Given the description of an element on the screen output the (x, y) to click on. 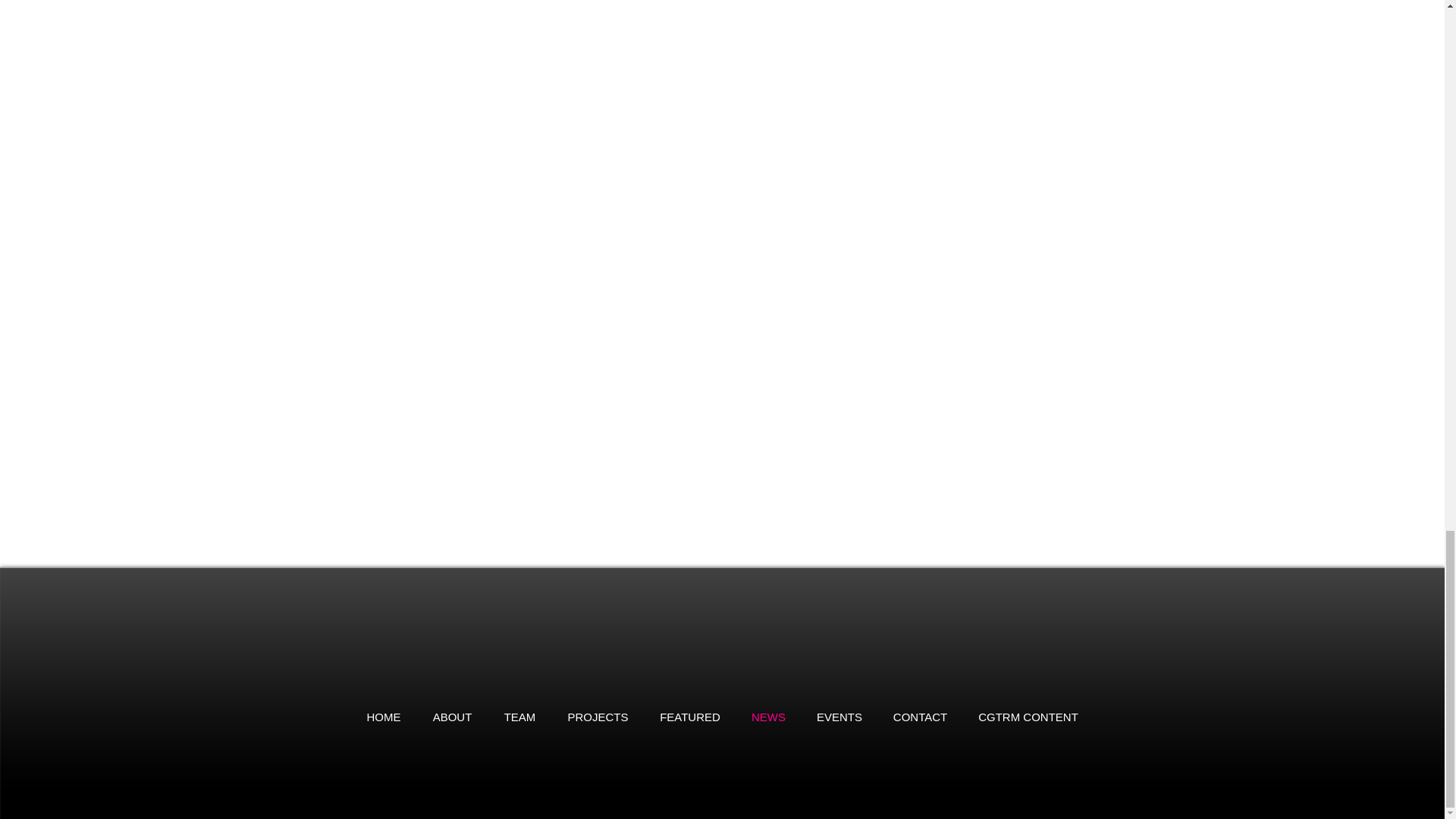
CGTRM CONTENT (1028, 716)
NEWS (767, 716)
FEATURED (690, 716)
CONTACT (919, 716)
EVENTS (838, 716)
PROJECTS (598, 716)
ABOUT (451, 716)
HOME (383, 716)
